Given the description of an element on the screen output the (x, y) to click on. 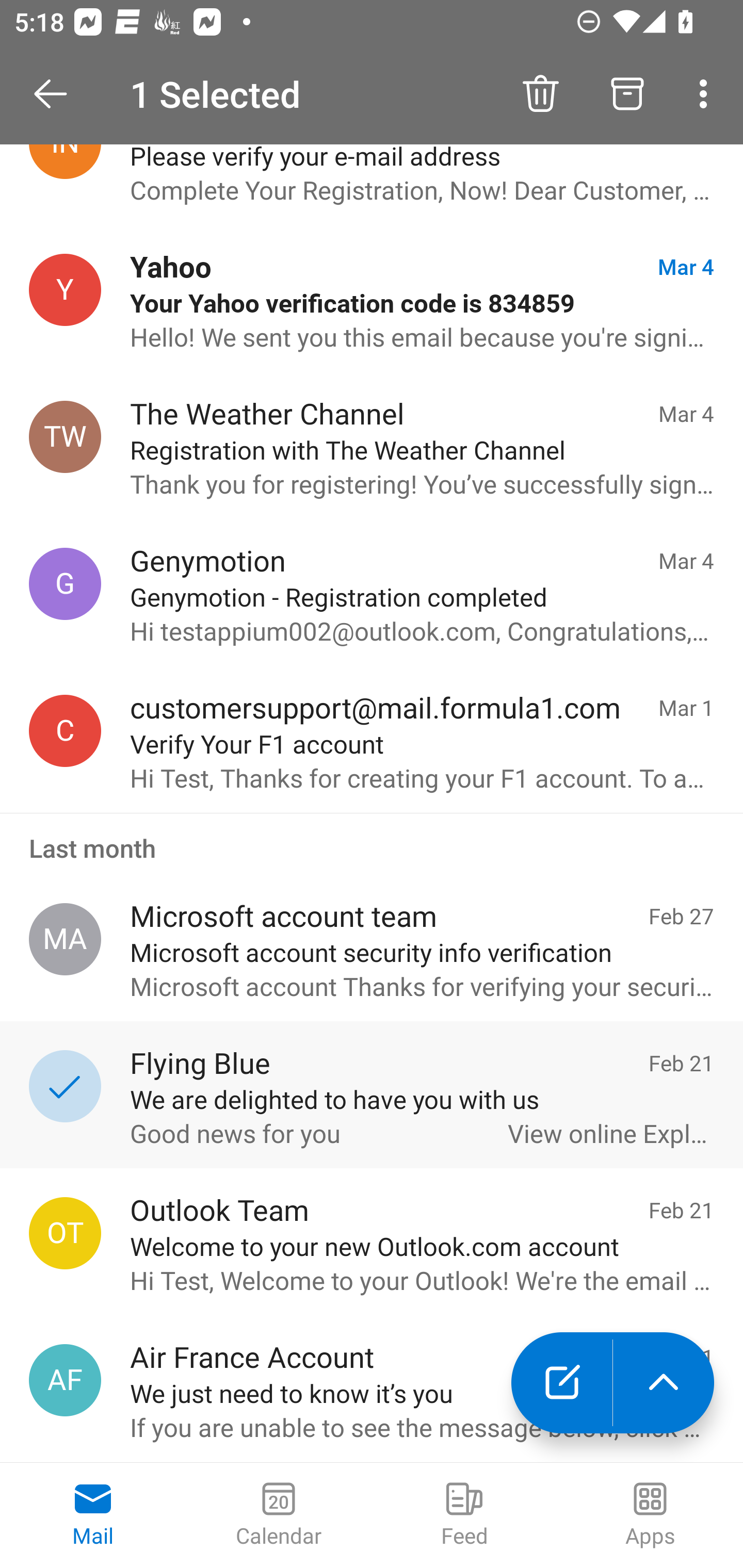
Delete (540, 93)
Archive (626, 93)
More options (706, 93)
Open Navigation Drawer (57, 94)
Yahoo, no-reply@cc.yahoo-inc.com (64, 290)
The Weather Channel, noreply@weather.com (64, 437)
Genymotion, genymotion-activation@genymobile.com (64, 583)
Outlook Team, no-reply@microsoft.com (64, 1233)
New mail (561, 1382)
launch the extended action menu (663, 1382)
Air France Account, account@infos-airfrance.com (64, 1379)
Calendar (278, 1515)
Feed (464, 1515)
Apps (650, 1515)
